Given the description of an element on the screen output the (x, y) to click on. 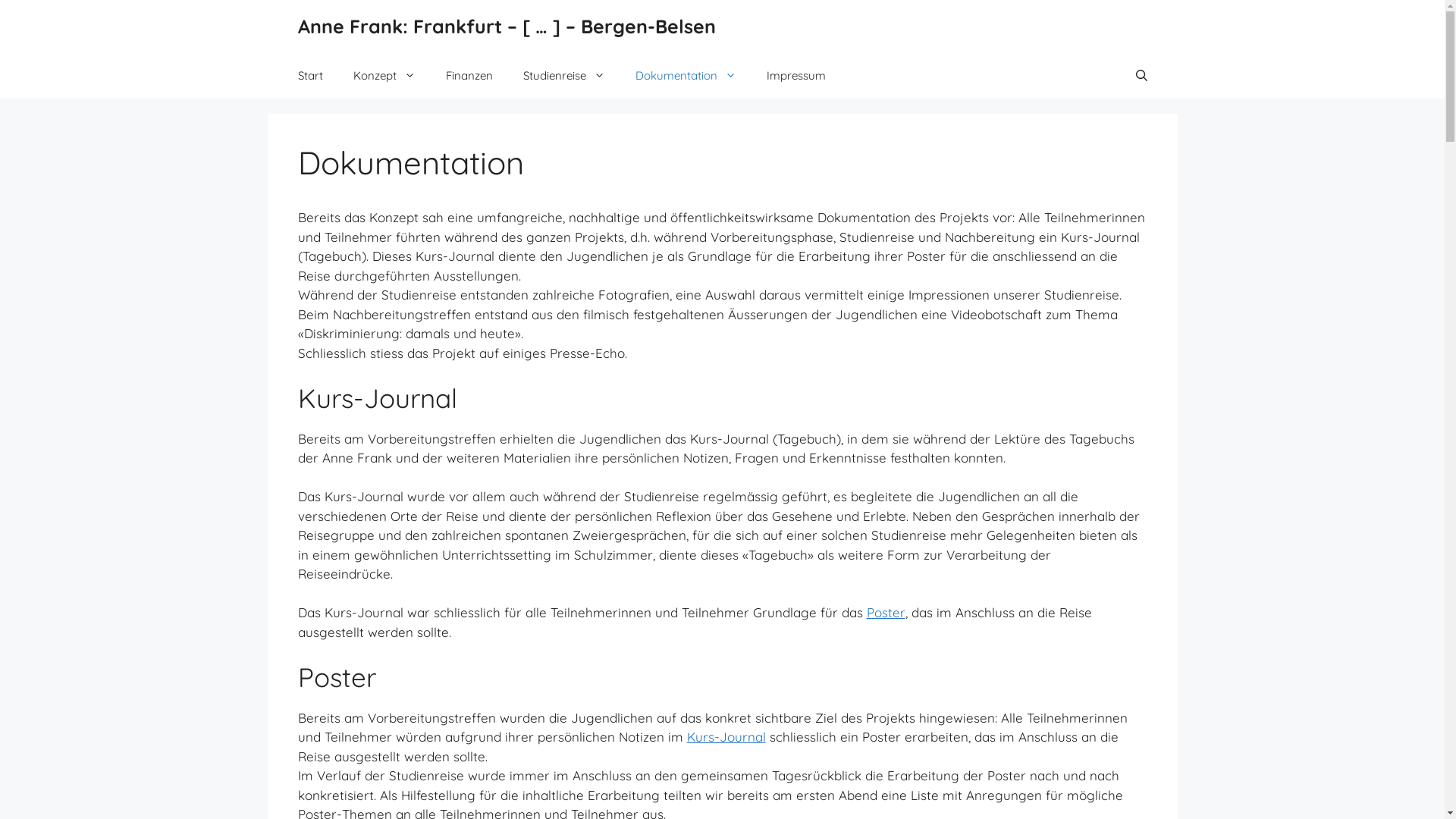
Poster Element type: text (885, 612)
Finanzen Element type: text (469, 75)
Dokumentation Element type: text (685, 75)
Kurs-Journal Element type: text (726, 736)
Konzept Element type: text (384, 75)
Studienreise Element type: text (564, 75)
Impressum Element type: text (795, 75)
Start Element type: text (309, 75)
